Given the description of an element on the screen output the (x, y) to click on. 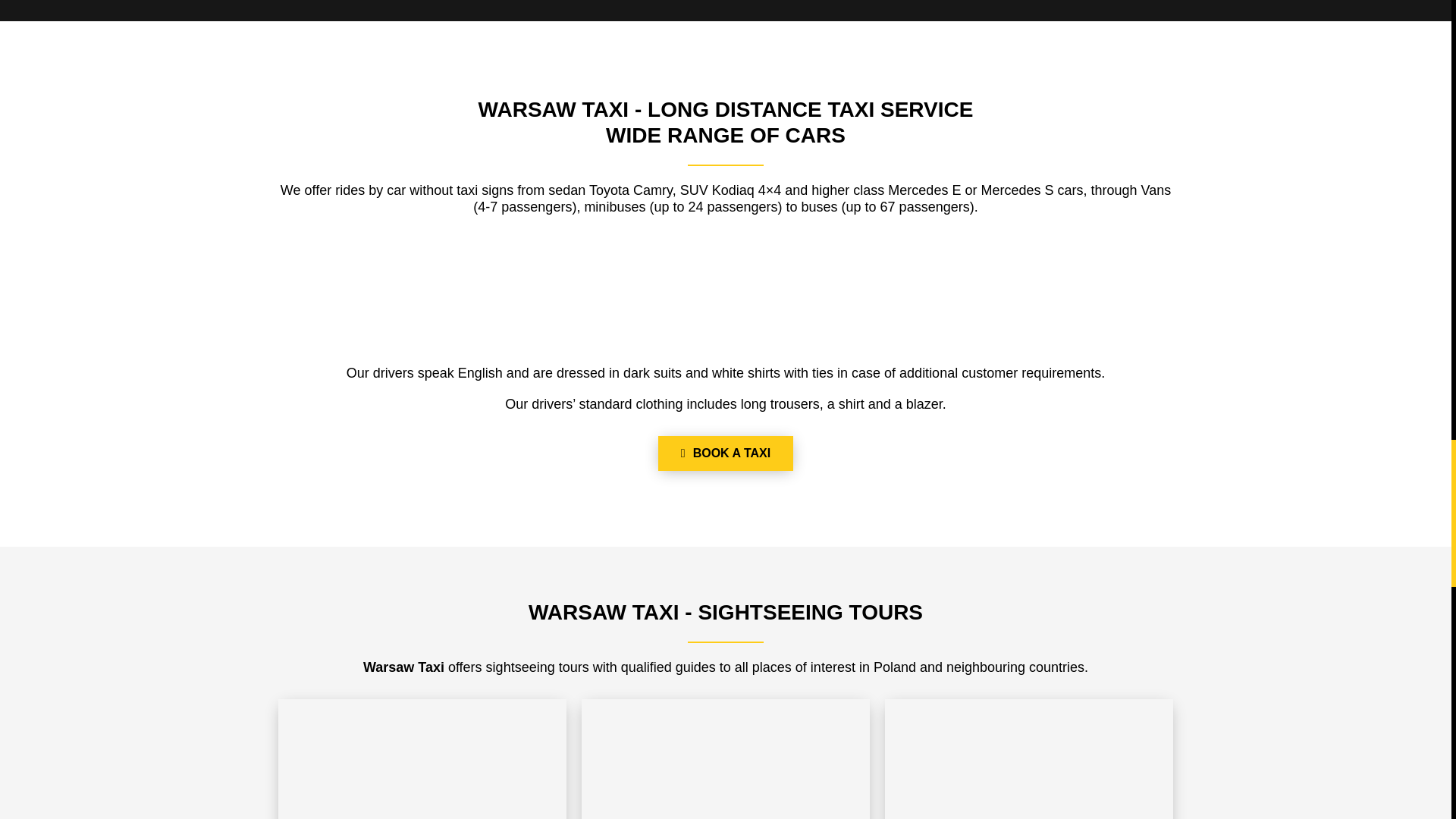
BOOK A TAXI (725, 452)
